Given the description of an element on the screen output the (x, y) to click on. 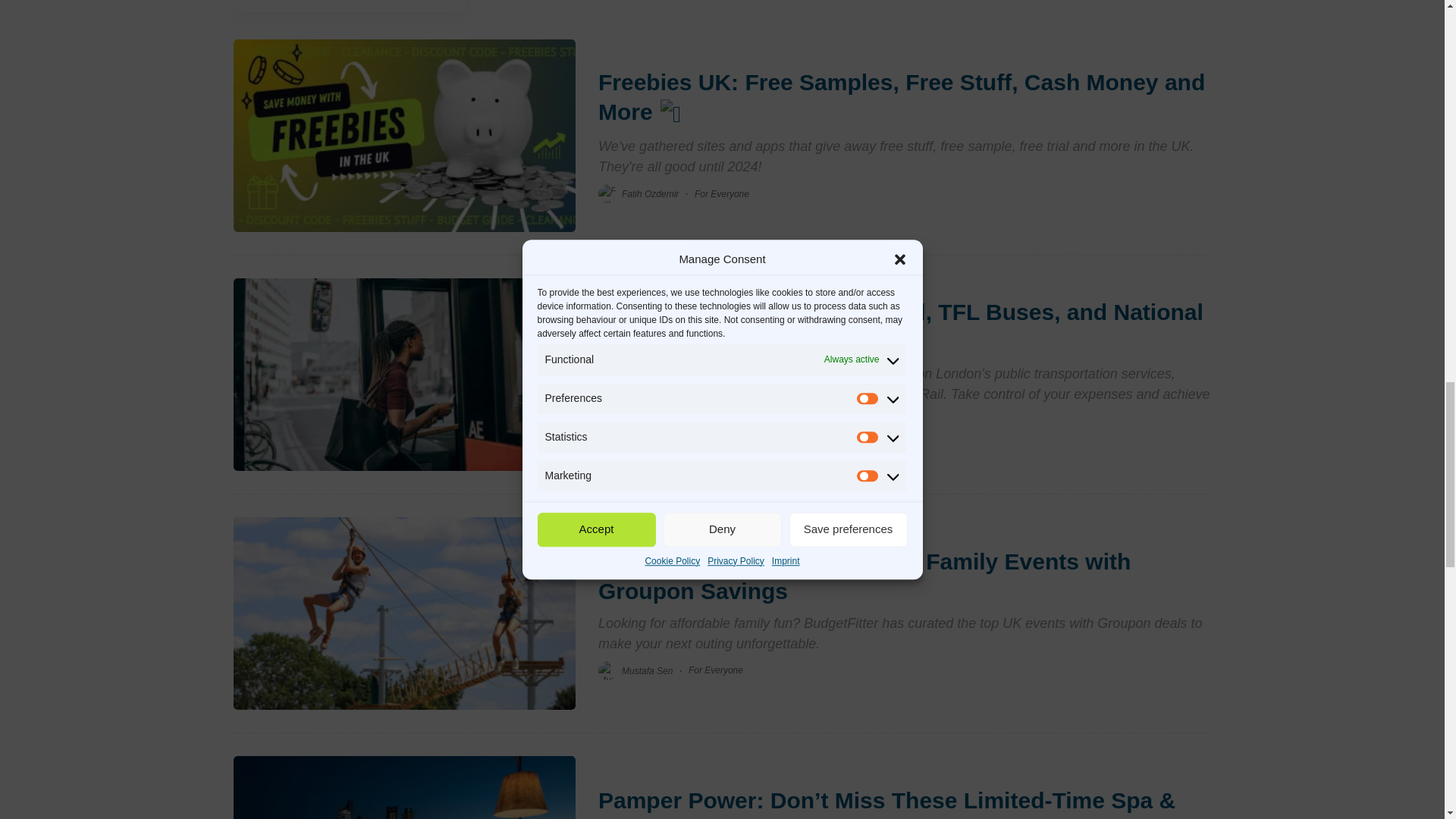
Posts by Fatih Ozdemir (649, 441)
Posts by Fatih Ozdemir (649, 194)
Posts by Mustafa Sen (646, 670)
